Given the description of an element on the screen output the (x, y) to click on. 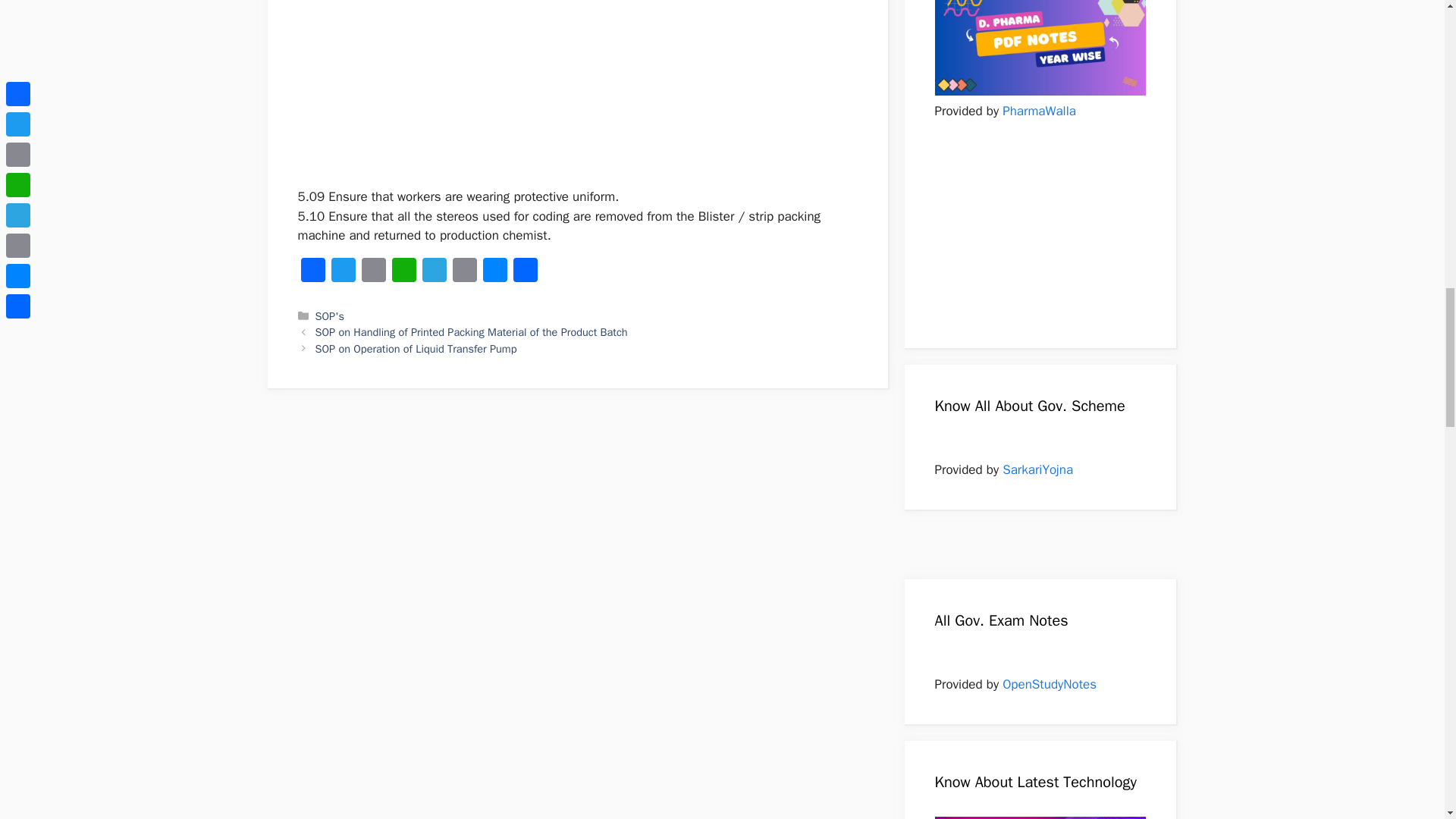
Email (373, 271)
Twitter (342, 271)
Advertisement (576, 93)
Facebook (312, 271)
